Given the description of an element on the screen output the (x, y) to click on. 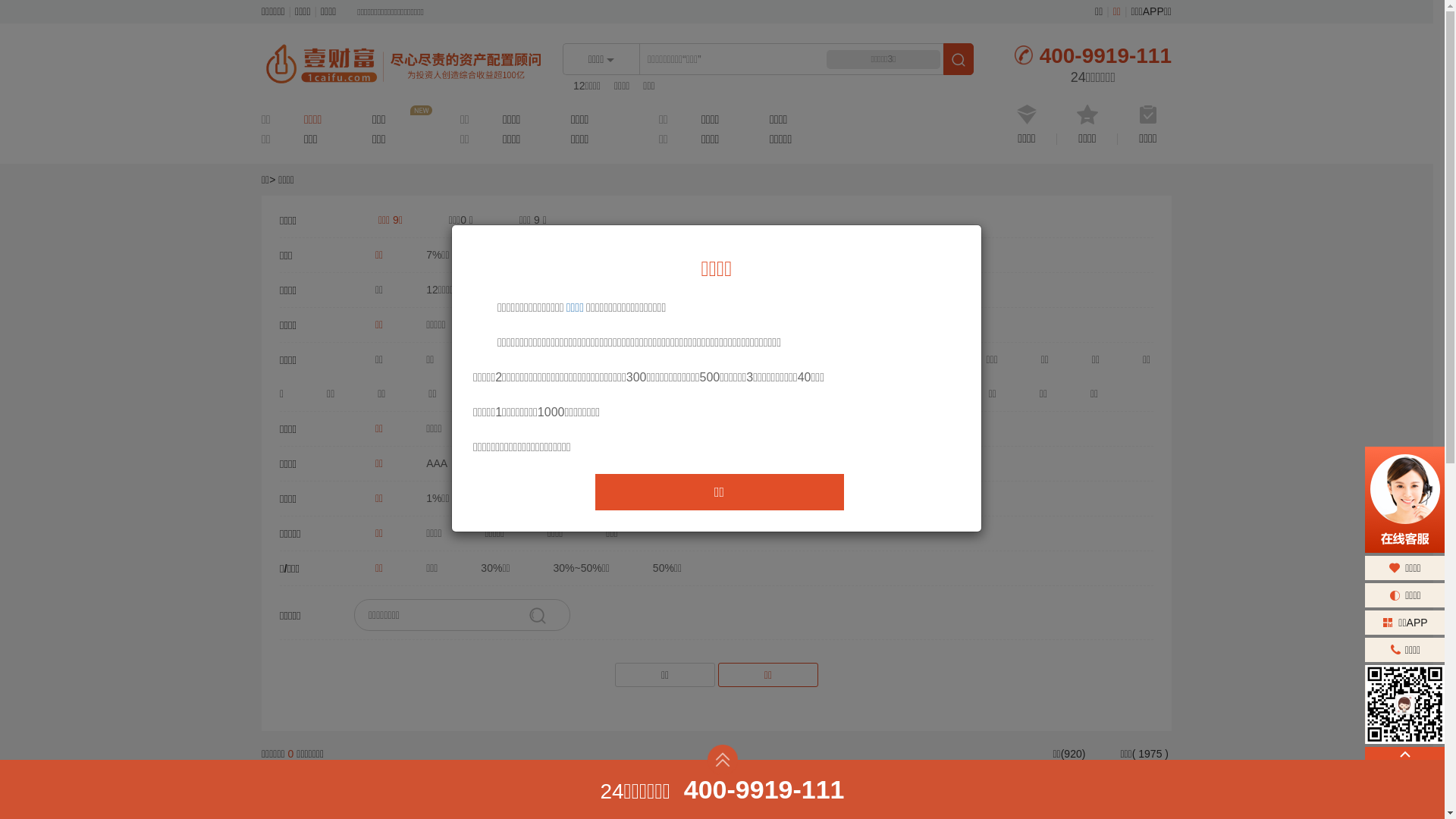
BB Element type: text (662, 462)
7%-7.9% Element type: text (505, 254)
C Element type: text (890, 462)
AA Element type: text (490, 462)
B Element type: text (715, 462)
A Element type: text (544, 462)
9%-9.9% Element type: text (678, 254)
8%-8.9% Element type: text (592, 254)
CC Element type: text (836, 462)
AAA Element type: text (428, 462)
BBB Element type: text (601, 462)
CCC Element type: text (774, 462)
